Given the description of an element on the screen output the (x, y) to click on. 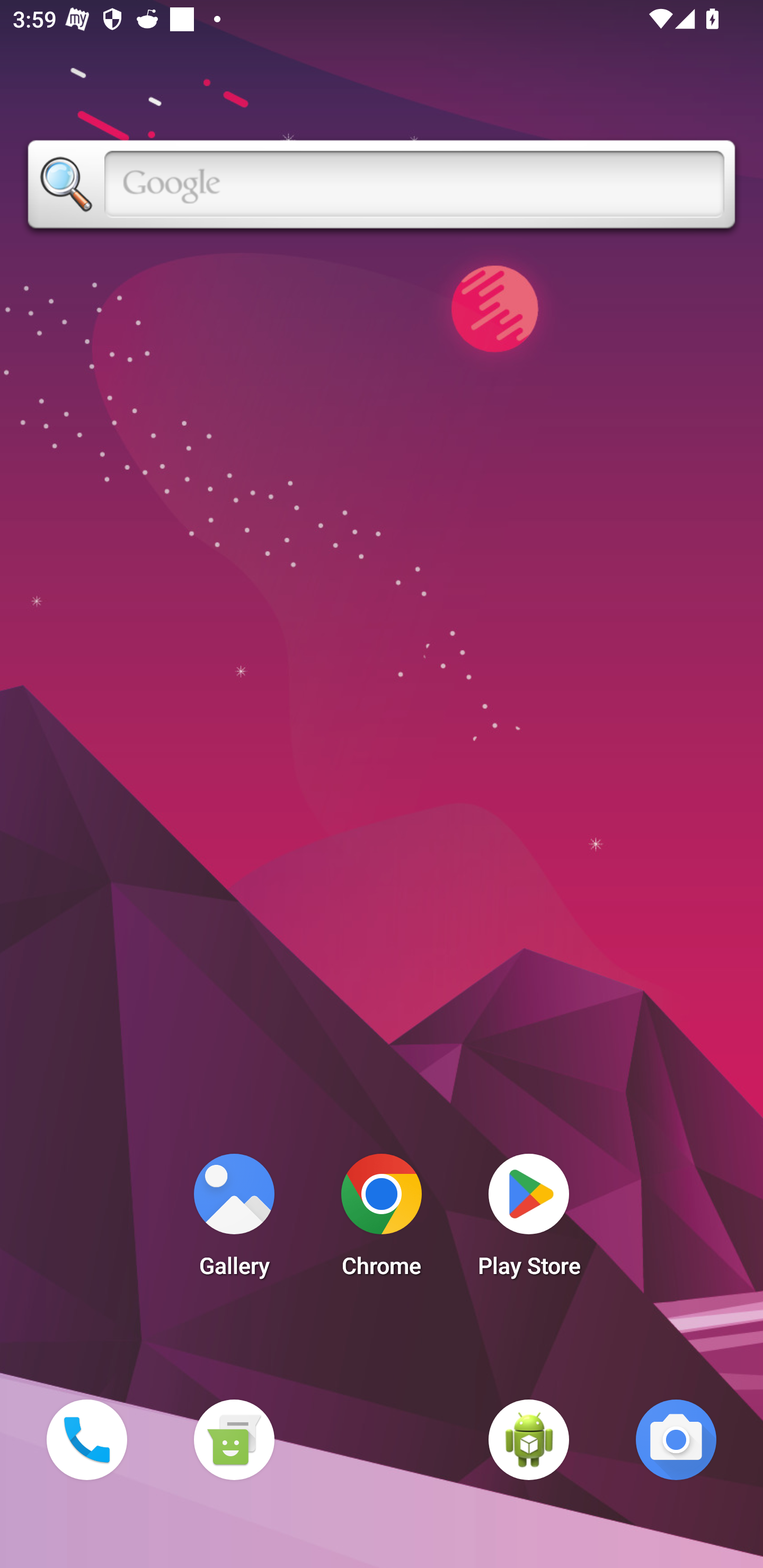
Gallery (233, 1220)
Chrome (381, 1220)
Play Store (528, 1220)
Phone (86, 1439)
Messaging (233, 1439)
WebView Browser Tester (528, 1439)
Camera (676, 1439)
